Given the description of an element on the screen output the (x, y) to click on. 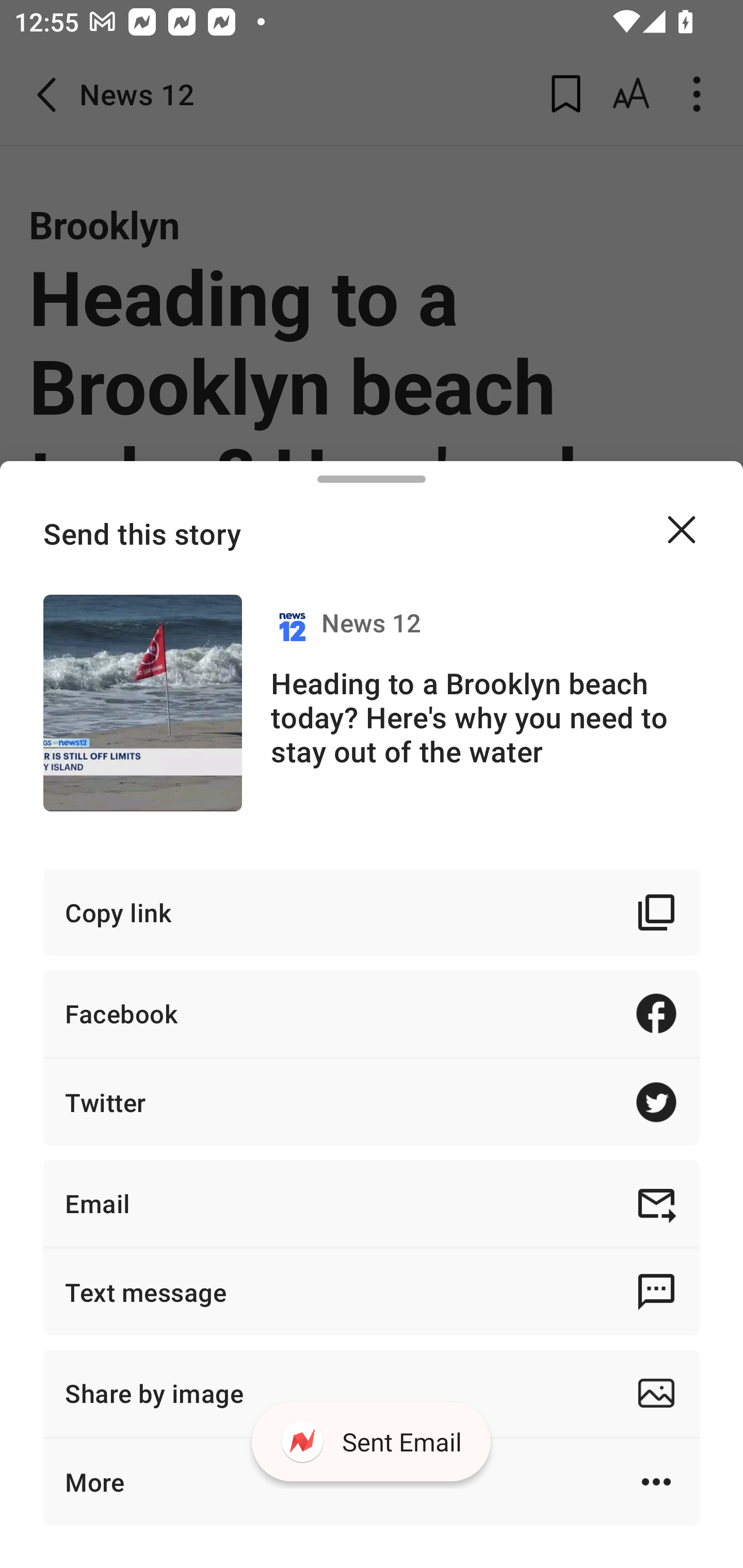
Copy link (371, 912)
Facebook (371, 1013)
Twitter (371, 1102)
Email (371, 1203)
Text message (371, 1291)
Share by image (371, 1393)
More (371, 1481)
